Given the description of an element on the screen output the (x, y) to click on. 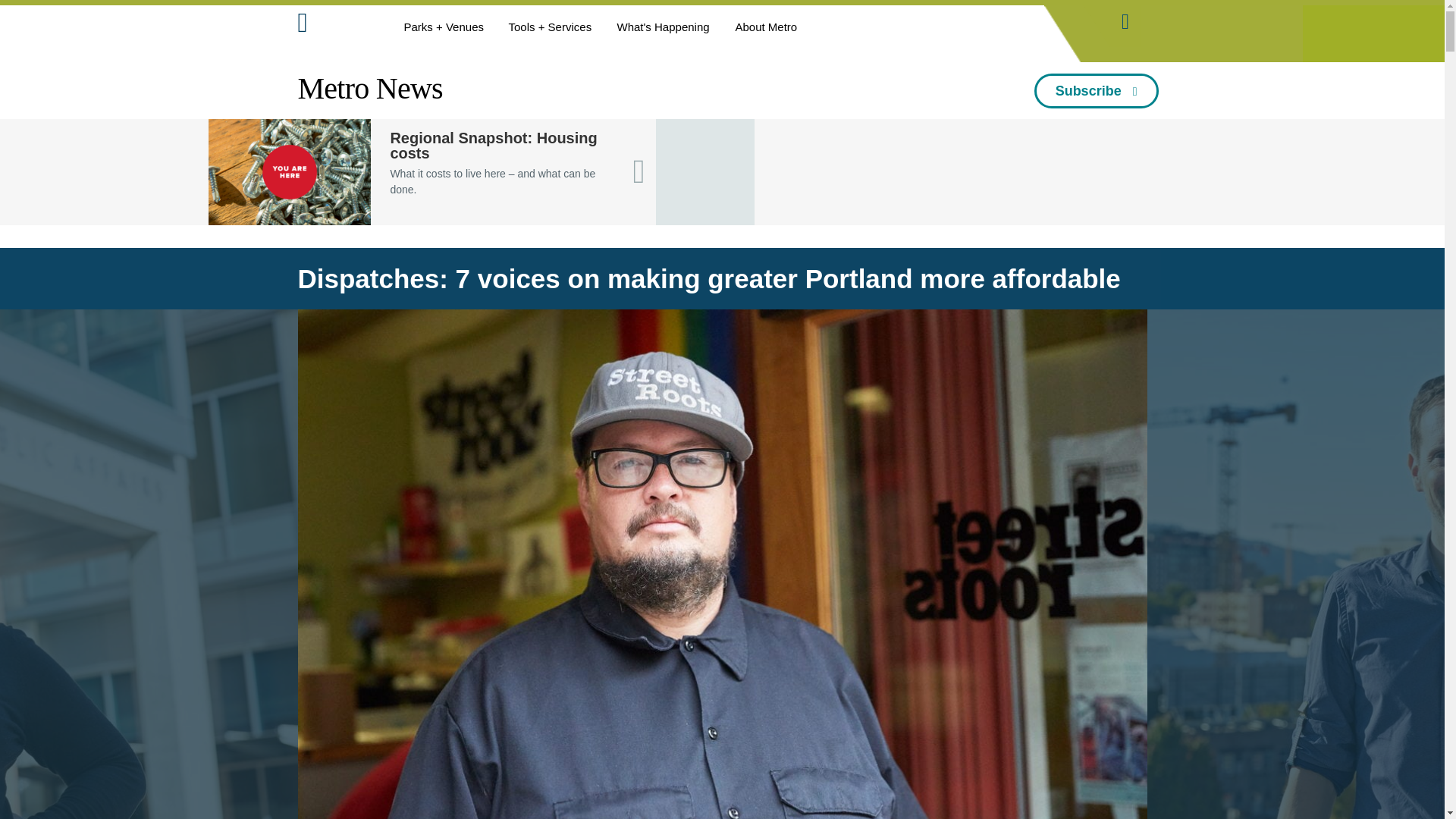
Search the entire site (1125, 16)
Metro (335, 25)
